Given the description of an element on the screen output the (x, y) to click on. 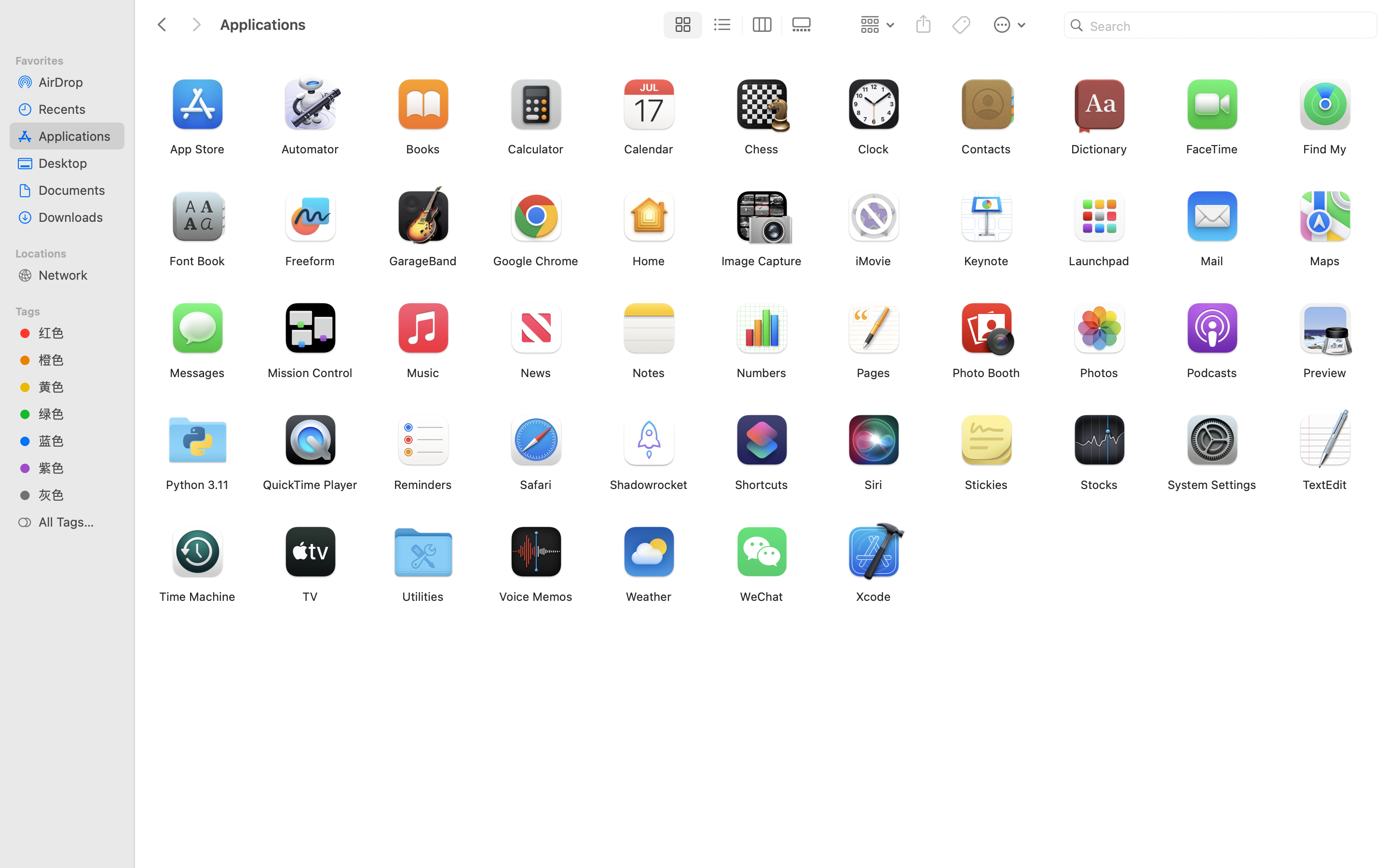
AirDrop Element type: AXStaticText (77, 81)
Favorites Element type: AXStaticText (72, 59)
Tags… Element type: AXStaticText (20, 860)
绿色 Element type: AXStaticText (77, 413)
All Tags… Element type: AXStaticText (77, 521)
